Given the description of an element on the screen output the (x, y) to click on. 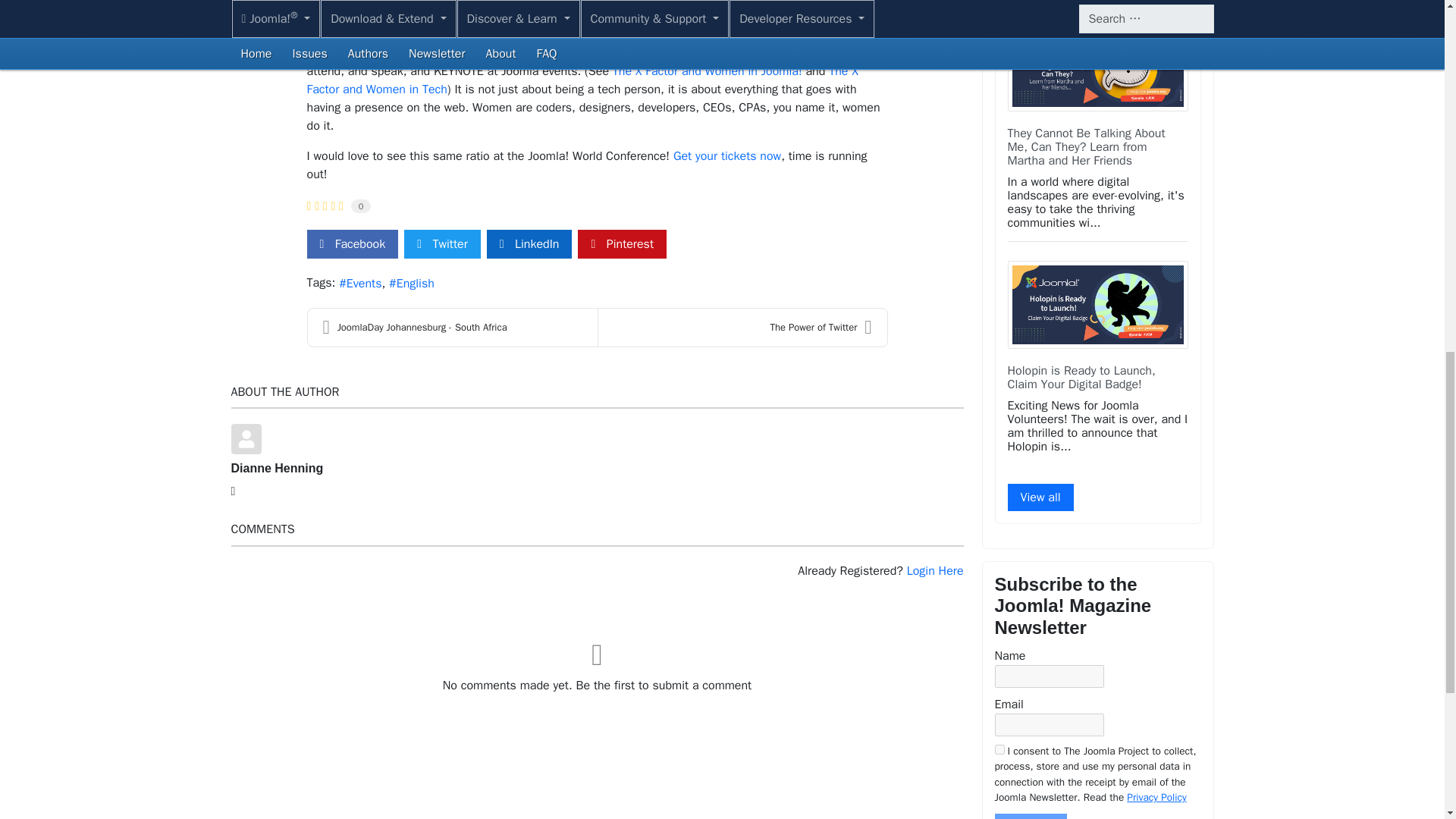
Not rated yet! (341, 205)
Not rated yet! (316, 205)
Not rated yet! (325, 205)
2024---JCM-martha-and-friends (1097, 67)
0 votes (360, 205)
Holopin is Ready to Launch, Claim Your Digital Badge! (1080, 377)
Not rated yet! (323, 205)
Not rated yet! (308, 205)
Subscribe (1030, 816)
2024---JCM-Template-Holopin (1097, 304)
on (999, 749)
Not rated yet! (332, 205)
